Given the description of an element on the screen output the (x, y) to click on. 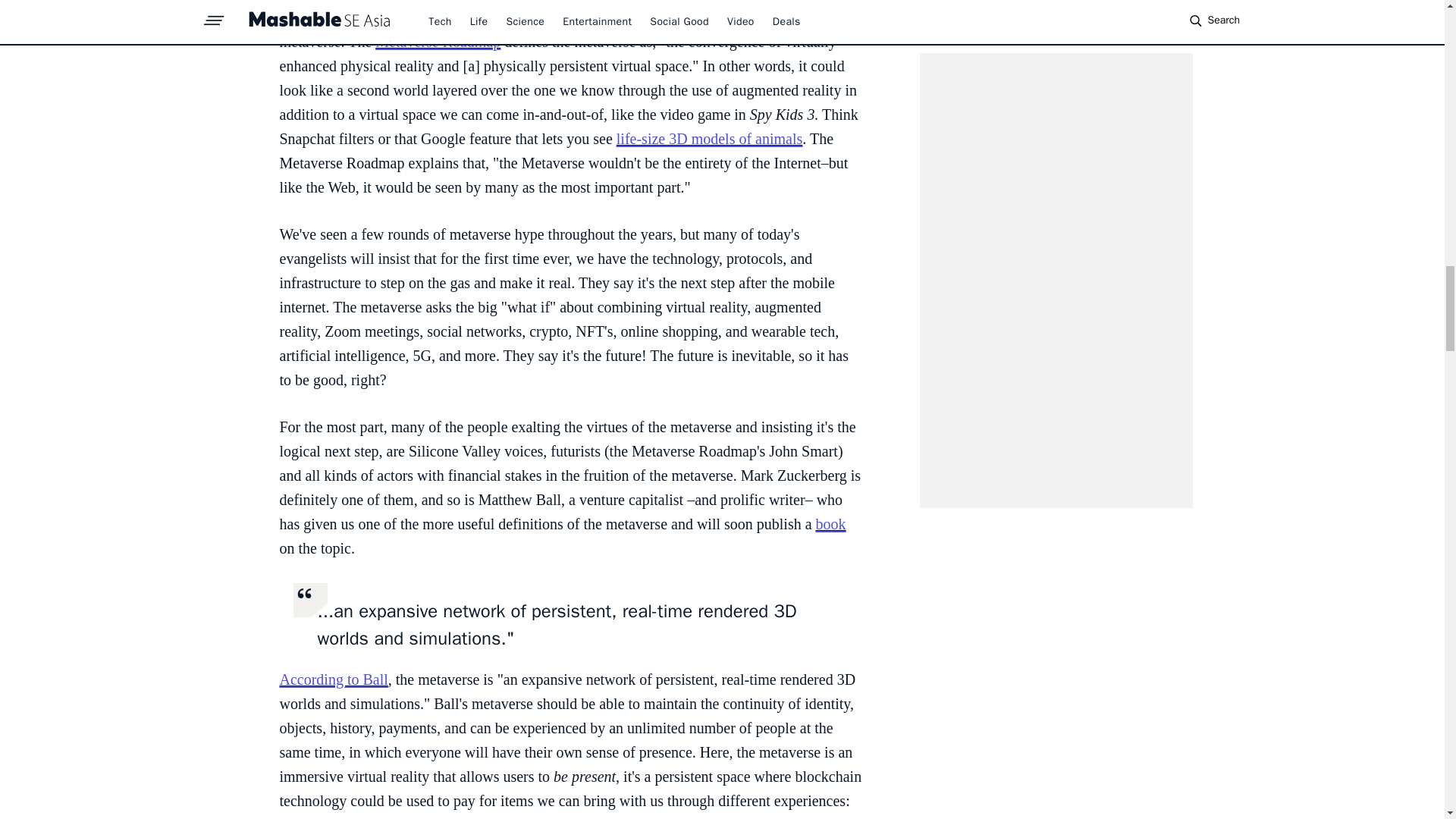
Metaverse Roadmap (437, 41)
Metaverse Roadmap (491, 17)
book (830, 523)
According to Ball (333, 678)
life-size 3D models of animals (709, 138)
